Given the description of an element on the screen output the (x, y) to click on. 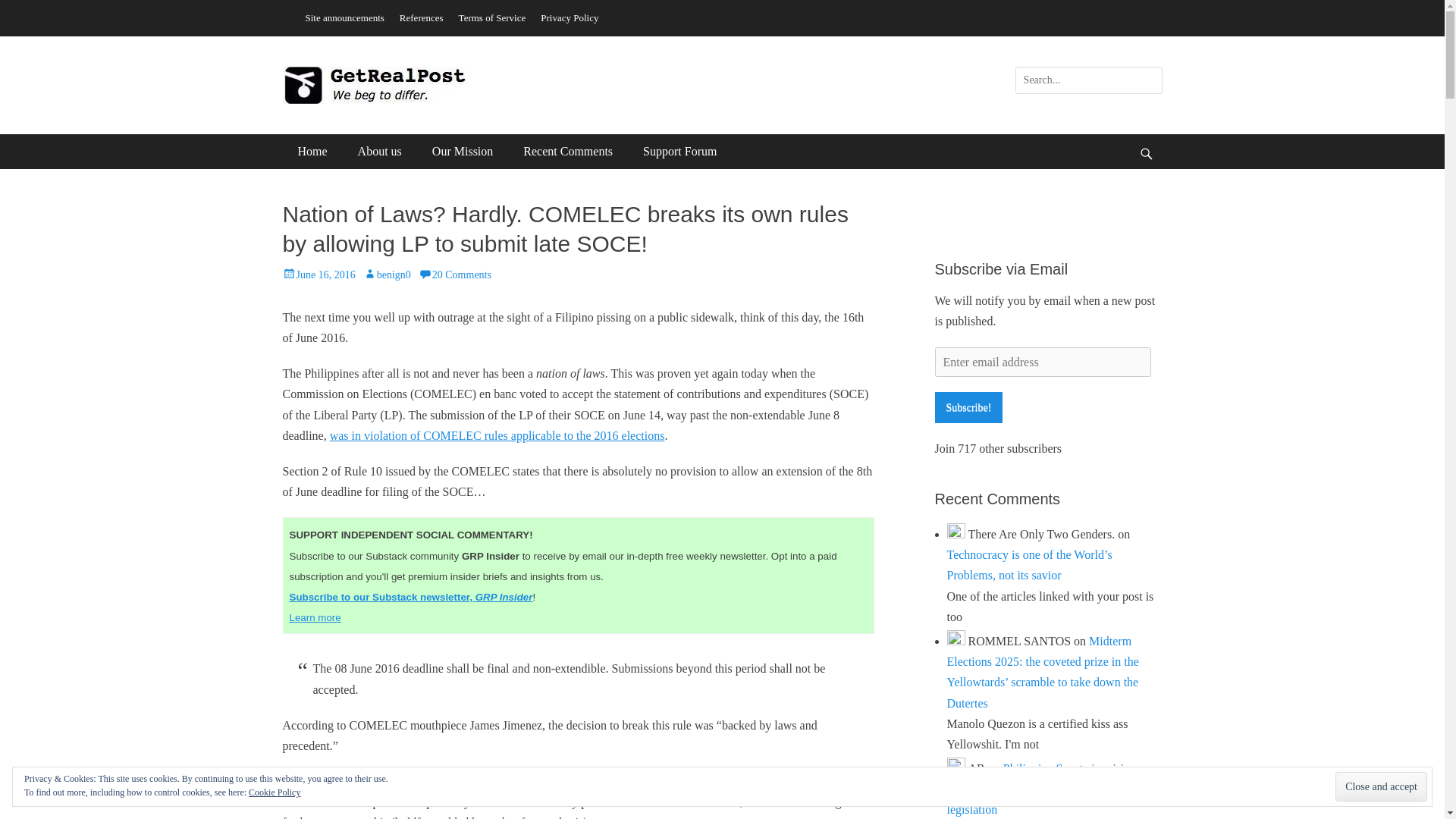
20 Comments (455, 274)
June 16, 2016 (318, 274)
Our Mission (462, 151)
Get Real Post (375, 85)
Learn more (314, 617)
Privacy Policy (568, 17)
Search (22, 9)
Terms of Service (492, 17)
Search for: (1087, 80)
